Given the description of an element on the screen output the (x, y) to click on. 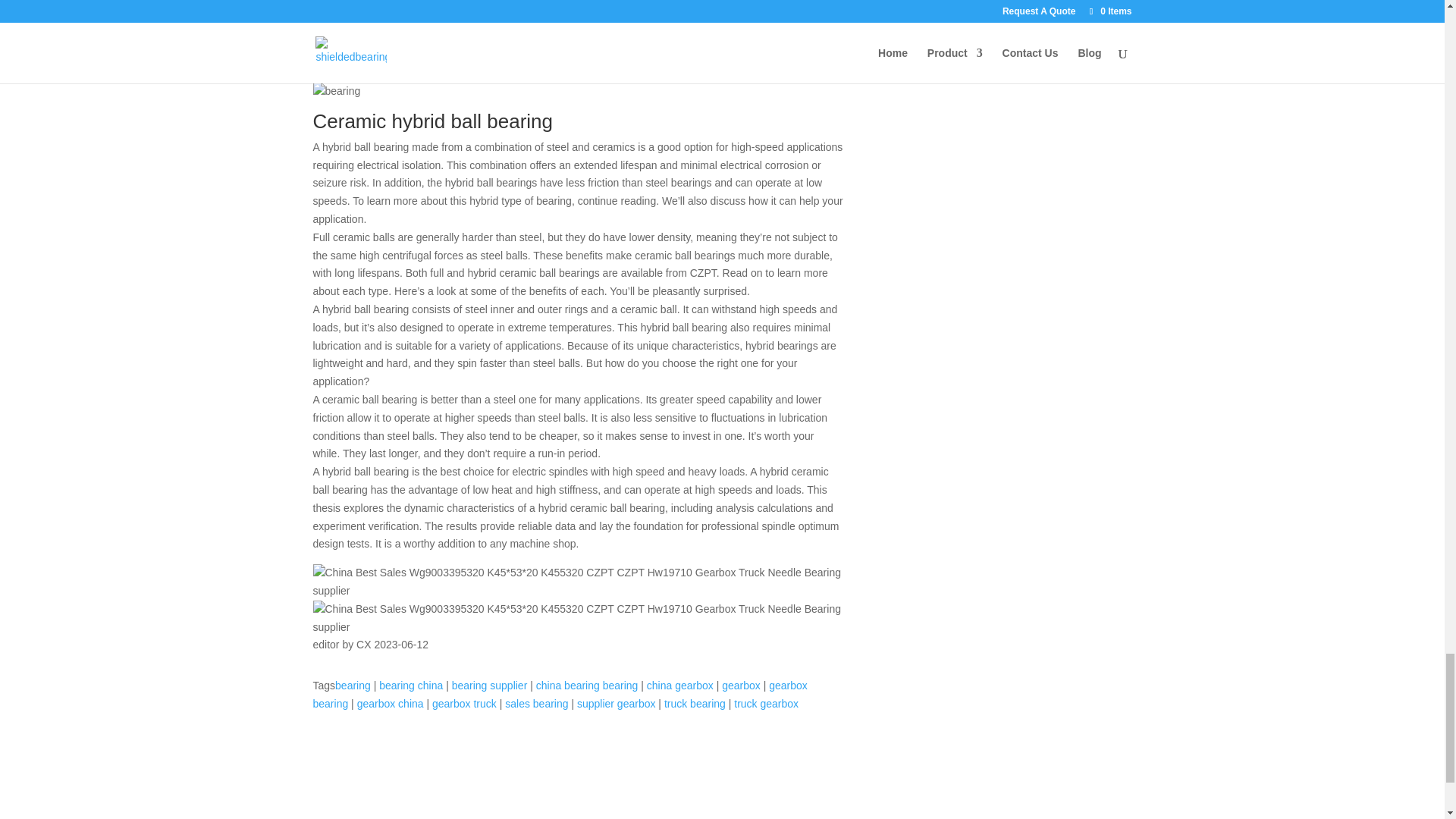
truck gearbox (765, 703)
china bearing bearing (587, 685)
bearing supplier (489, 685)
gearbox bearing (559, 694)
china gearbox (679, 685)
gearbox china (389, 703)
bearing (352, 685)
bearing china (410, 685)
supplier gearbox (616, 703)
gearbox truck (464, 703)
